Given the description of an element on the screen output the (x, y) to click on. 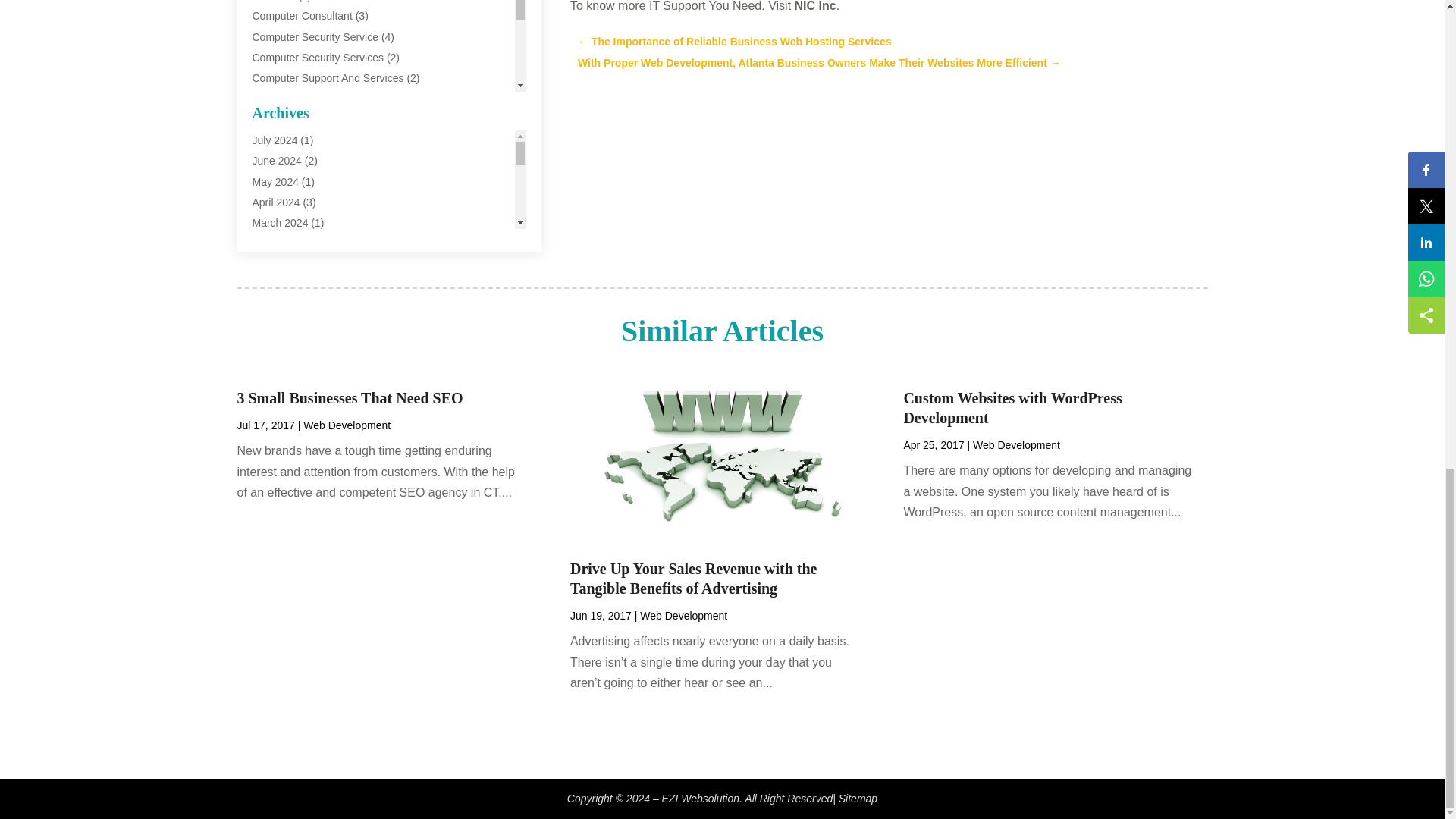
Computer Security Service (314, 37)
Computer Support And Services (327, 78)
Software Development (305, 304)
IT Support (276, 242)
Computer Security Services (317, 57)
Online Marketing (291, 263)
Web Design (279, 345)
Internet Marketing Service (313, 201)
Data Communications (303, 119)
Computer Consultant (301, 15)
Business (273, 0)
Computers (276, 98)
Digital Marketing (290, 140)
Web Hosting (282, 408)
Internet Service Provider (309, 222)
